Given the description of an element on the screen output the (x, y) to click on. 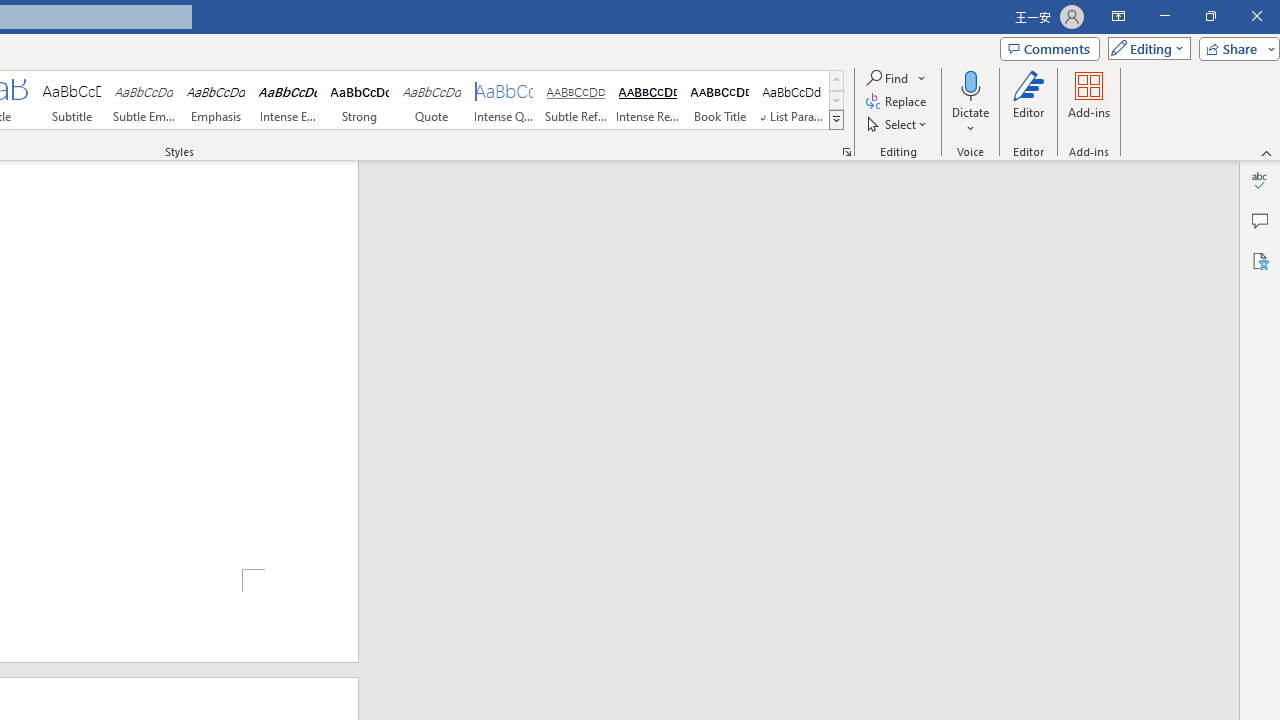
Emphasis (216, 100)
Subtle Emphasis (143, 100)
Intense Reference (647, 100)
Editing (1144, 47)
Intense Quote (504, 100)
Subtle Reference (575, 100)
Book Title (719, 100)
